Given the description of an element on the screen output the (x, y) to click on. 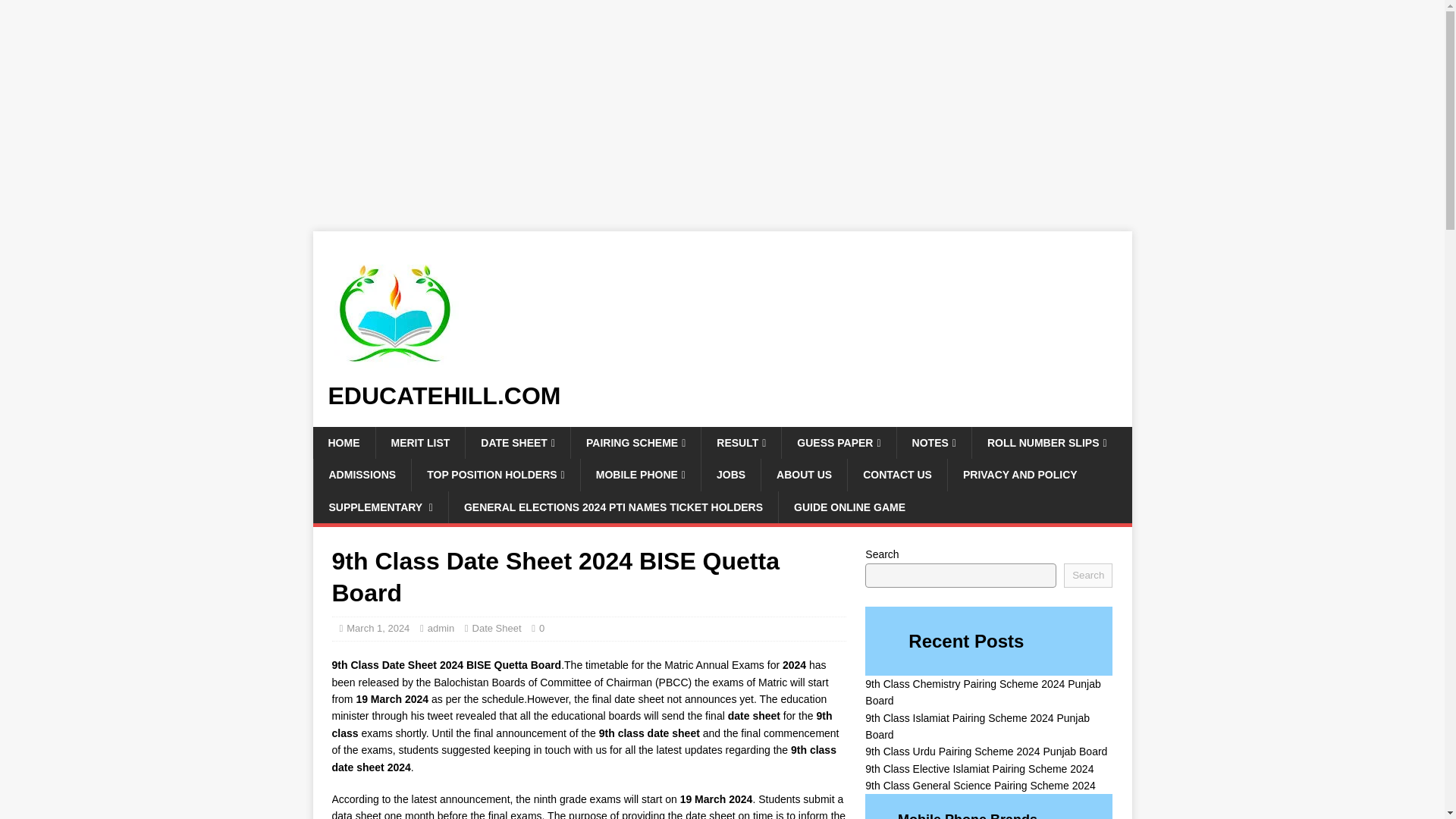
EDUCATEHILL.COM (721, 395)
0 (541, 627)
Educatehill.Com (721, 395)
